Given the description of an element on the screen output the (x, y) to click on. 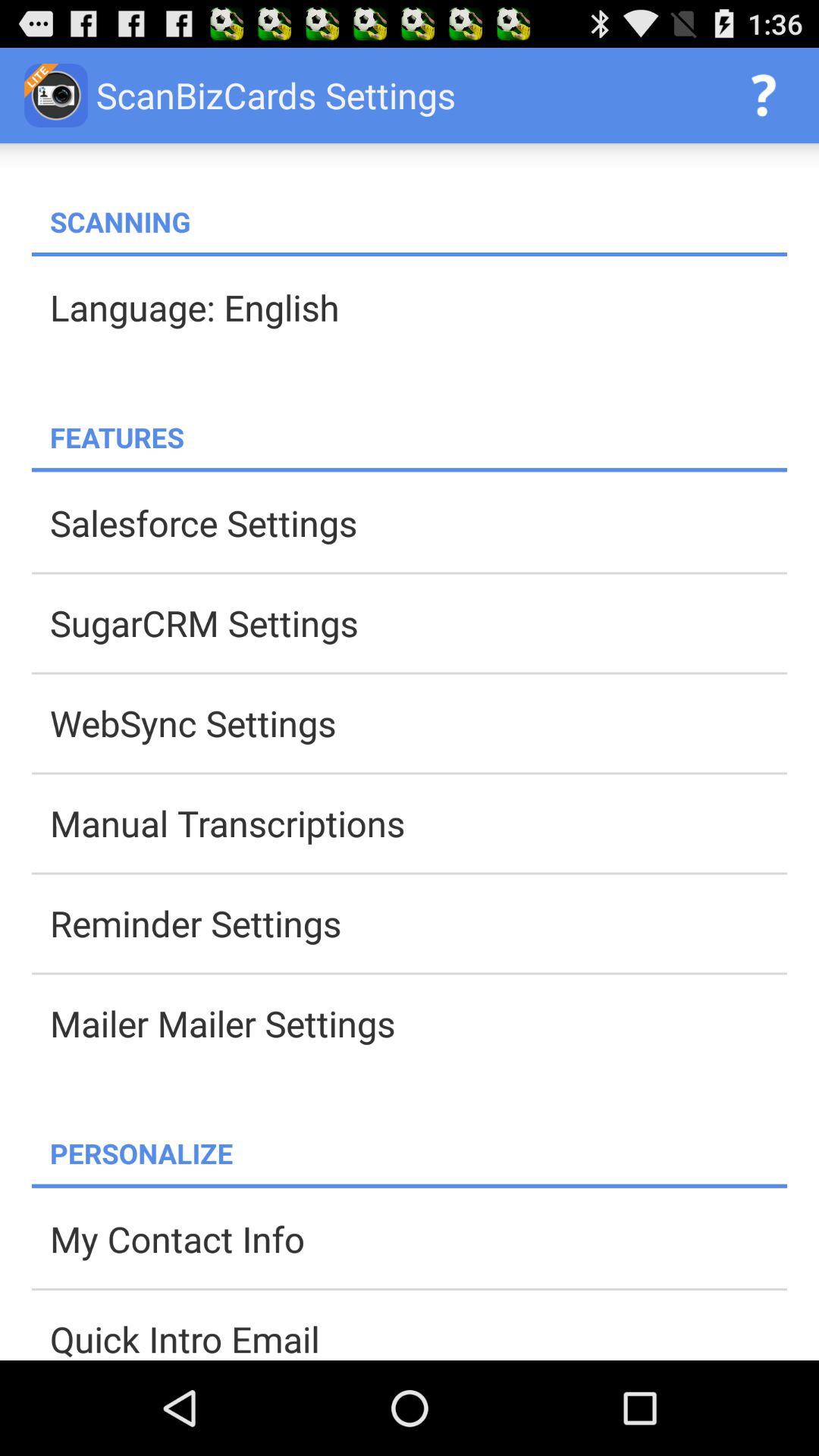
choose the icon above my contact info (409, 1186)
